Given the description of an element on the screen output the (x, y) to click on. 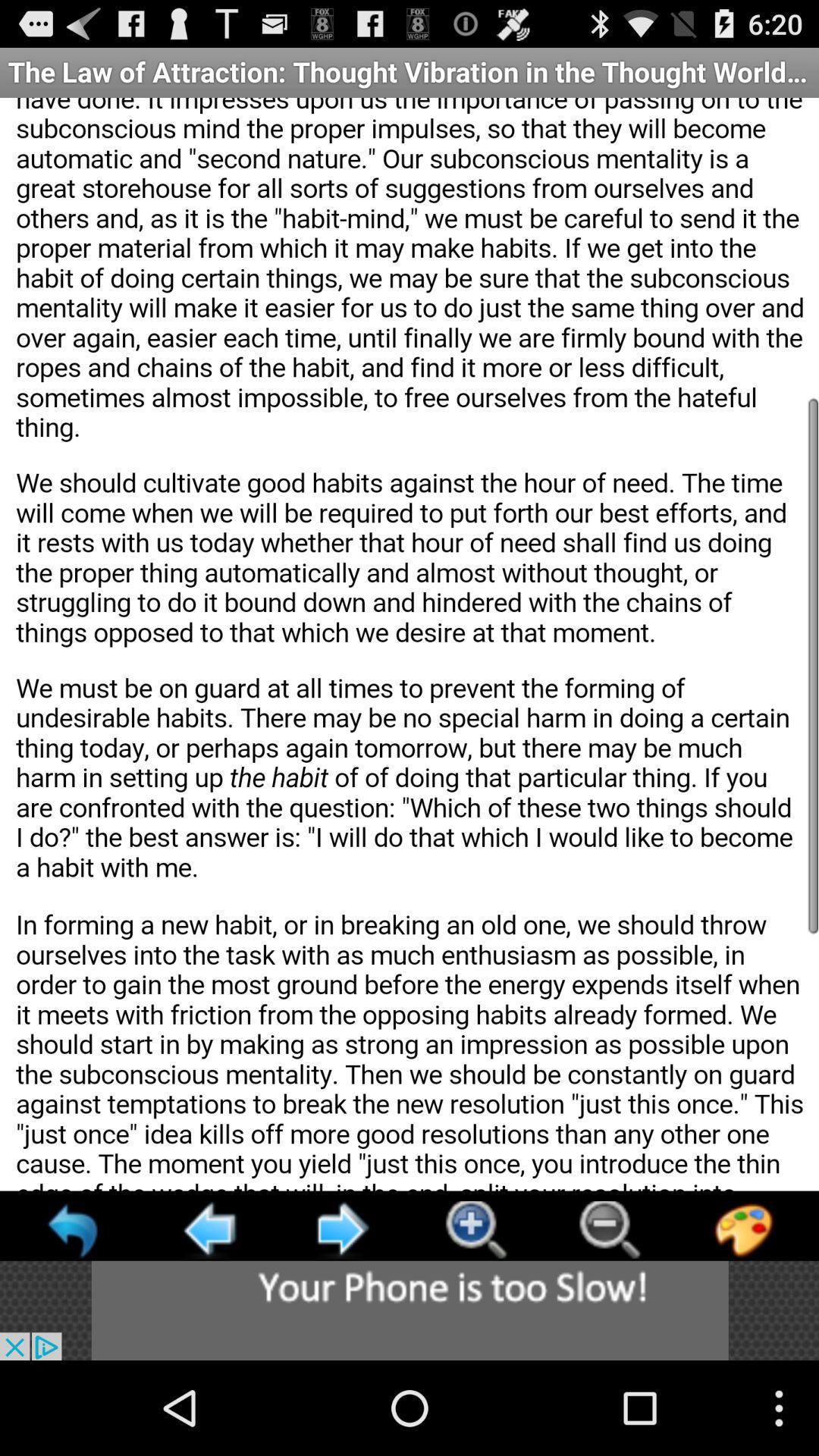
refresh (74, 1229)
